Given the description of an element on the screen output the (x, y) to click on. 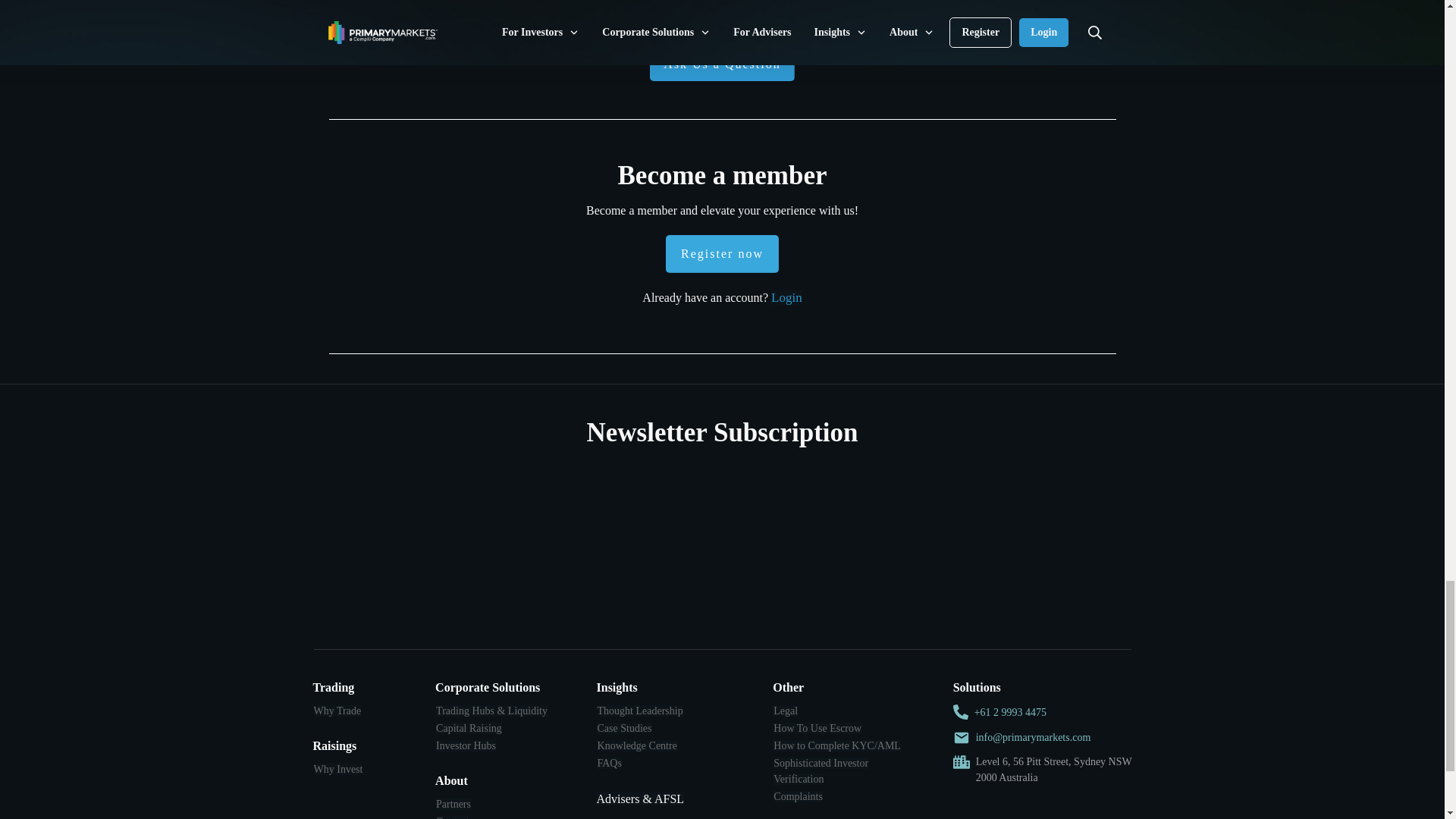
Form 0 (722, 545)
Capital Raising (468, 727)
Why Trade (337, 710)
Register now (721, 253)
Investor Hubs (465, 745)
Login (786, 297)
Ask Us a Question (721, 63)
Why Invest (338, 768)
